Given the description of an element on the screen output the (x, y) to click on. 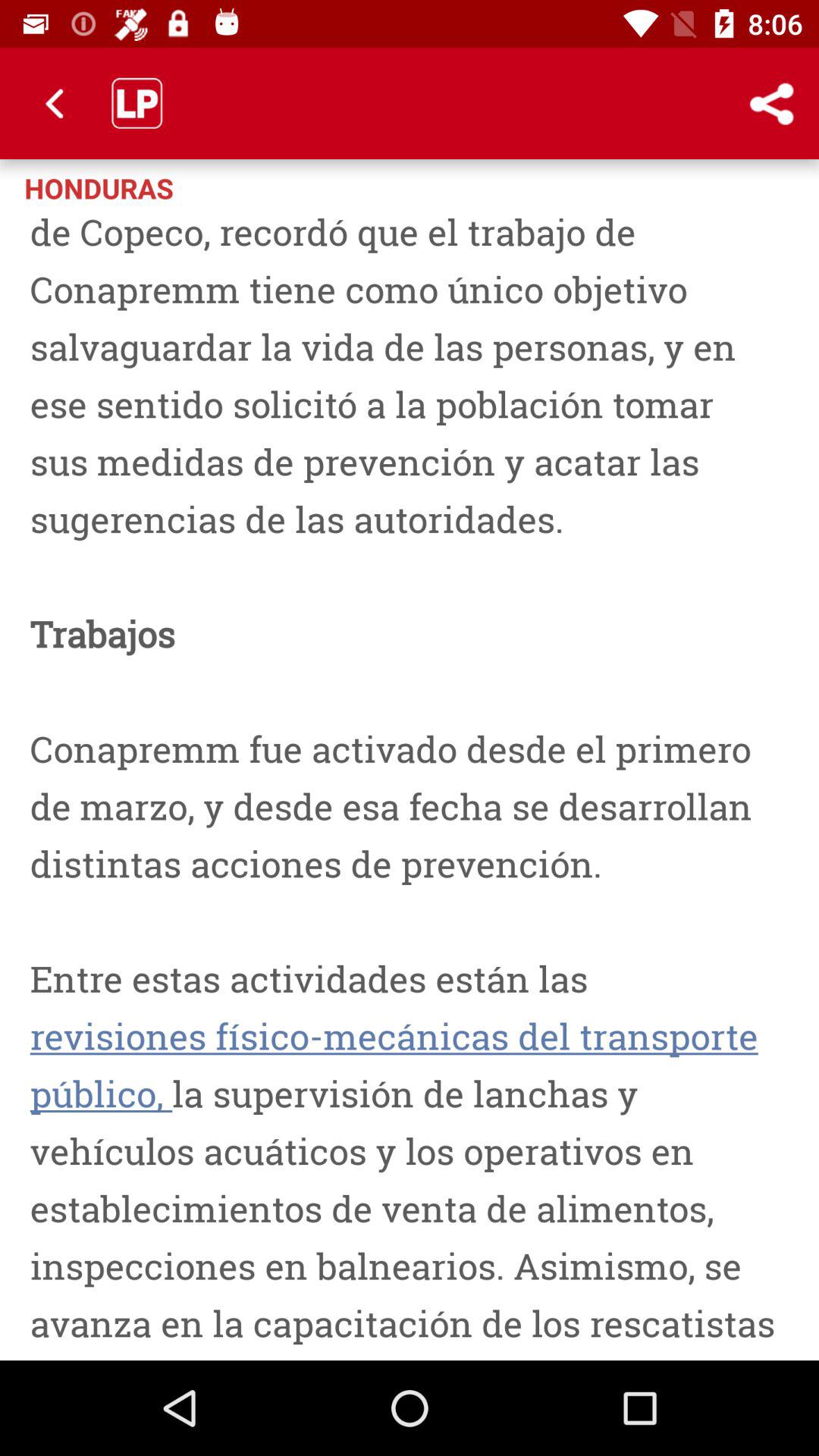
open item below honduras item (409, 782)
